Given the description of an element on the screen output the (x, y) to click on. 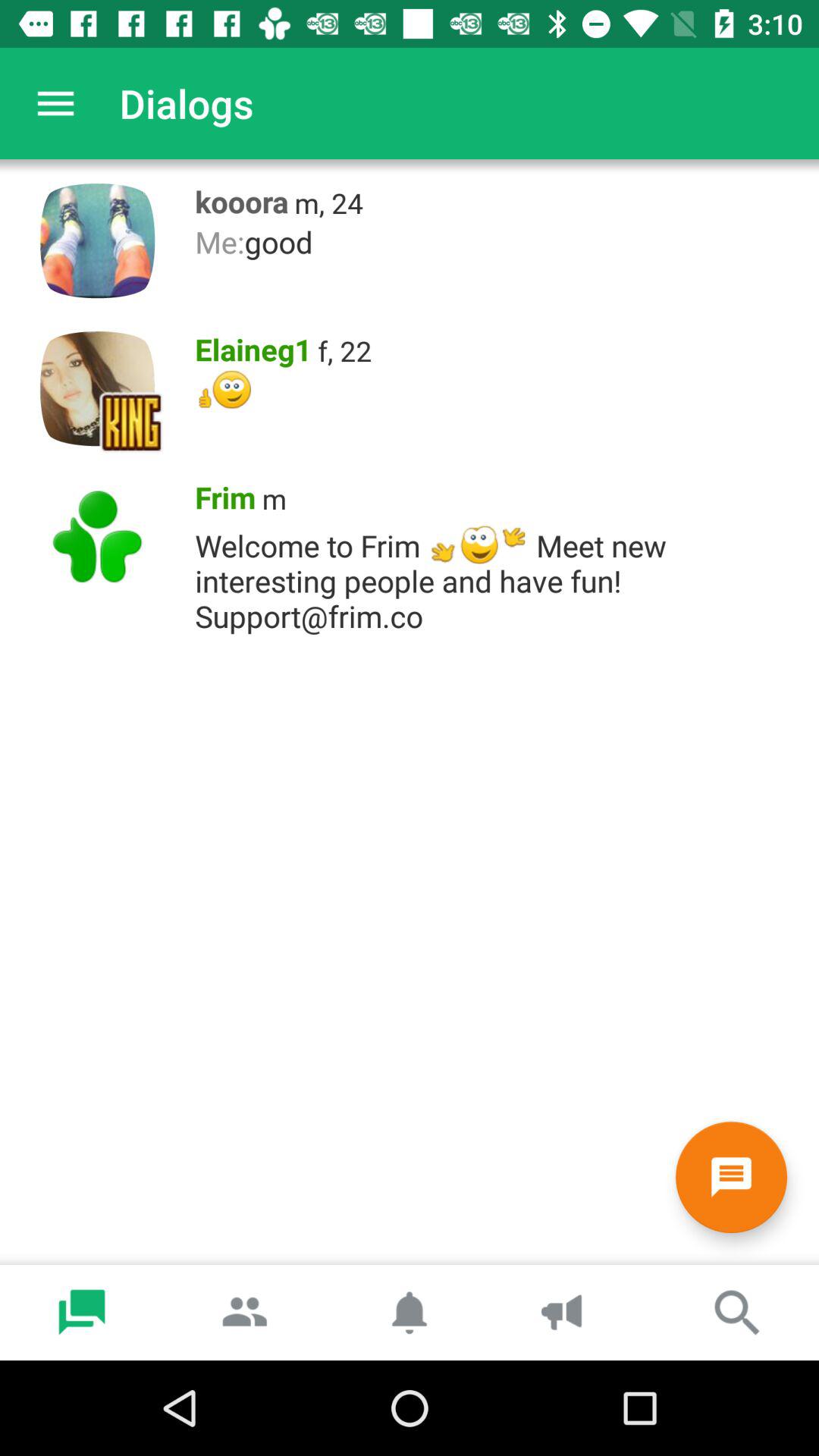
jump to the elaineg1 (248, 346)
